Given the description of an element on the screen output the (x, y) to click on. 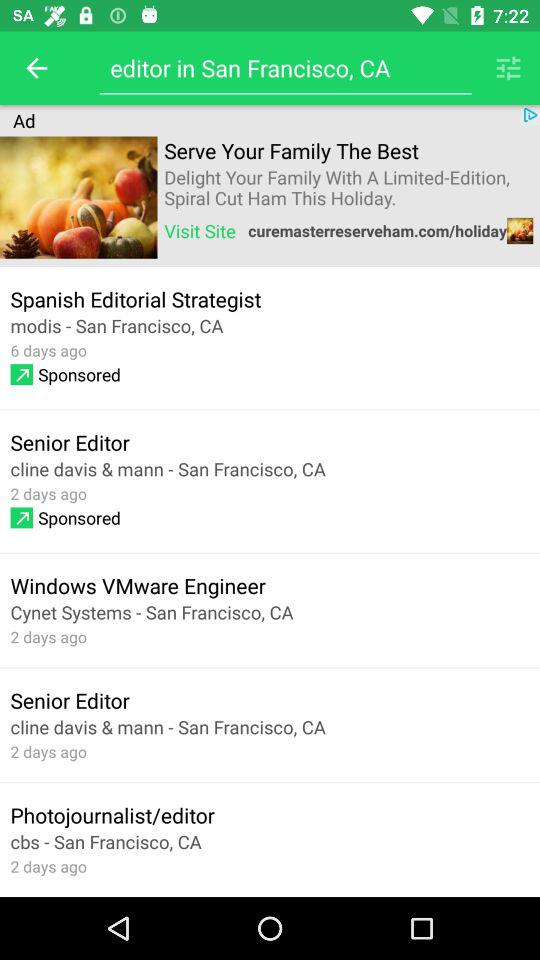
select item above spanish editorial strategist item (199, 230)
